Given the description of an element on the screen output the (x, y) to click on. 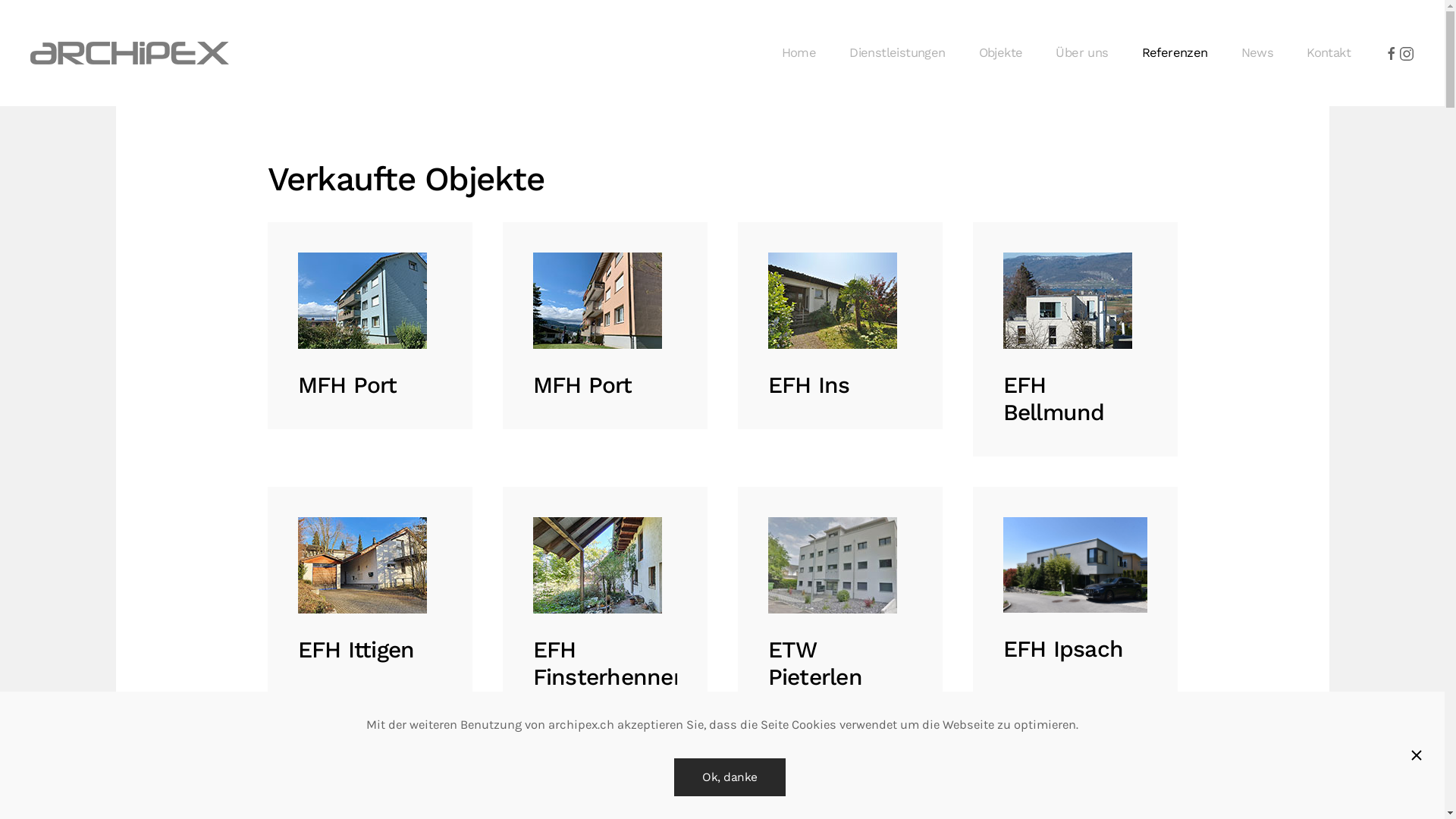
Dienstleistungen Element type: text (896, 53)
News Element type: text (1257, 53)
Kontakt Element type: text (1328, 53)
Objekte Element type: text (1000, 53)
Referenzen Element type: text (1175, 53)
Ok, danke Element type: text (729, 777)
Home Element type: text (798, 53)
